Given the description of an element on the screen output the (x, y) to click on. 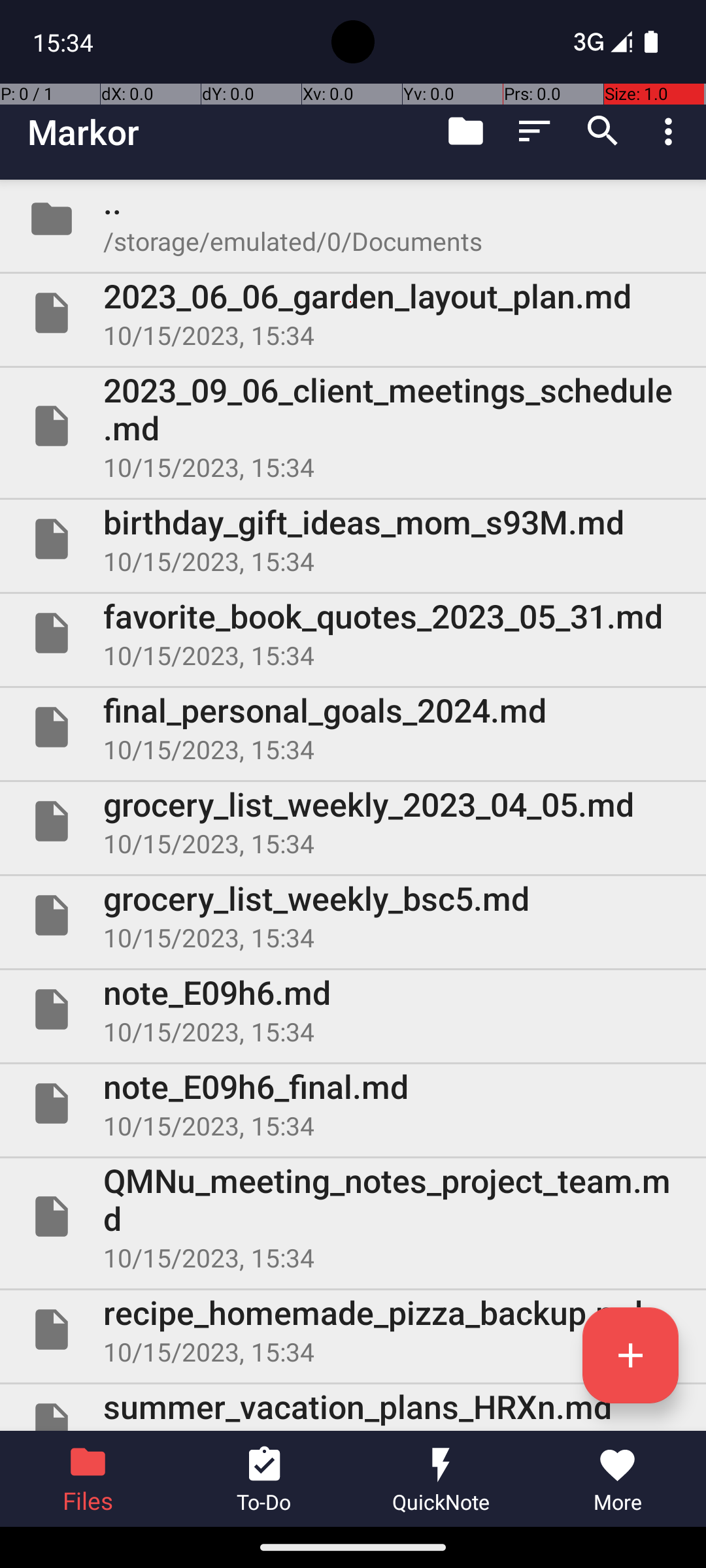
File 2023_06_06_garden_layout_plan.md  Element type: android.widget.LinearLayout (353, 312)
File 2023_09_06_client_meetings_schedule.md  Element type: android.widget.LinearLayout (353, 425)
File birthday_gift_ideas_mom_s93M.md  Element type: android.widget.LinearLayout (353, 538)
File favorite_book_quotes_2023_05_31.md  Element type: android.widget.LinearLayout (353, 632)
File final_personal_goals_2024.md  Element type: android.widget.LinearLayout (353, 726)
File grocery_list_weekly_2023_04_05.md  Element type: android.widget.LinearLayout (353, 821)
File grocery_list_weekly_bsc5.md  Element type: android.widget.LinearLayout (353, 915)
File note_E09h6.md  Element type: android.widget.LinearLayout (353, 1009)
File note_E09h6_final.md  Element type: android.widget.LinearLayout (353, 1103)
File QMNu_meeting_notes_project_team.md  Element type: android.widget.LinearLayout (353, 1216)
File recipe_homemade_pizza_backup.md  Element type: android.widget.LinearLayout (353, 1329)
File summer_vacation_plans_HRXn.md  Element type: android.widget.LinearLayout (353, 1407)
